Given the description of an element on the screen output the (x, y) to click on. 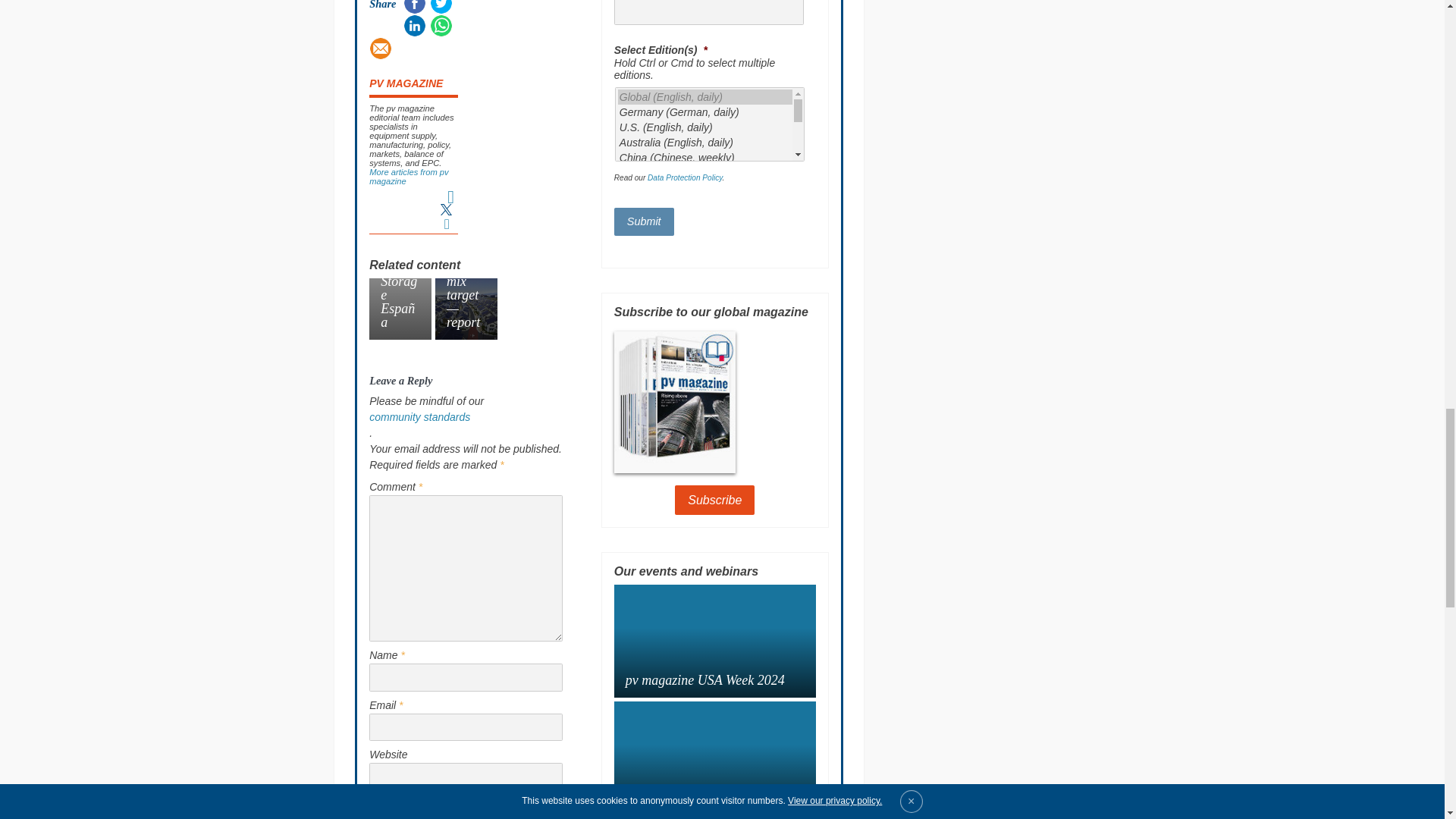
Submit (644, 221)
yes (373, 796)
